Given the description of an element on the screen output the (x, y) to click on. 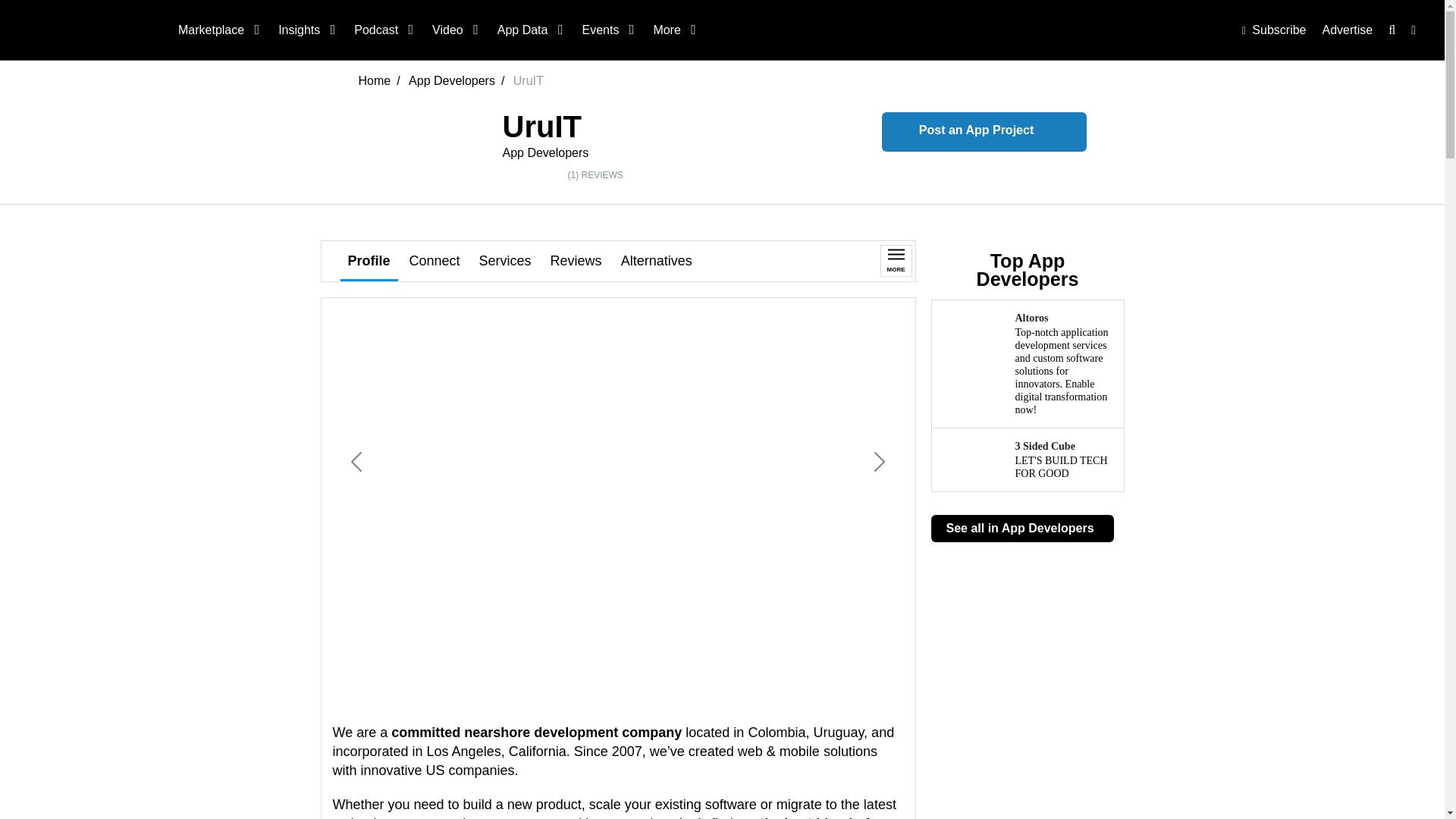
Altoros (1027, 363)
Marketplace (216, 29)
3 Sided Cube (1027, 459)
